Given the description of an element on the screen output the (x, y) to click on. 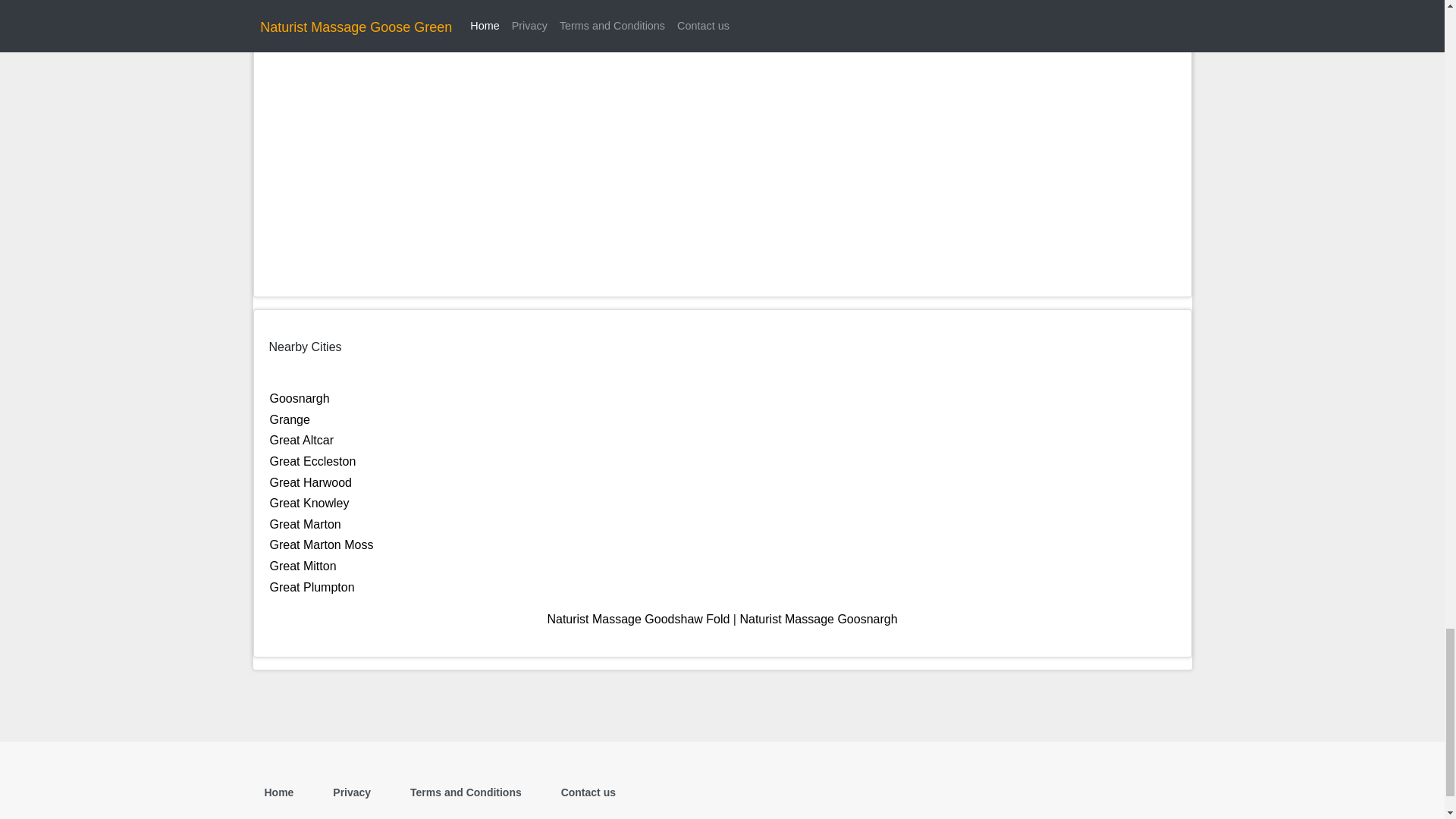
Great Eccleston (312, 461)
Great Knowley (309, 502)
Great Harwood (310, 481)
Great Marton Moss (321, 544)
Great Plumpton (312, 585)
Great Mitton (302, 565)
Goosnargh (299, 398)
Grange (289, 419)
Great Marton (304, 523)
Naturist Massage Goosnargh (817, 618)
Great Altcar (301, 440)
Naturist Massage Goodshaw Fold (638, 618)
